Given the description of an element on the screen output the (x, y) to click on. 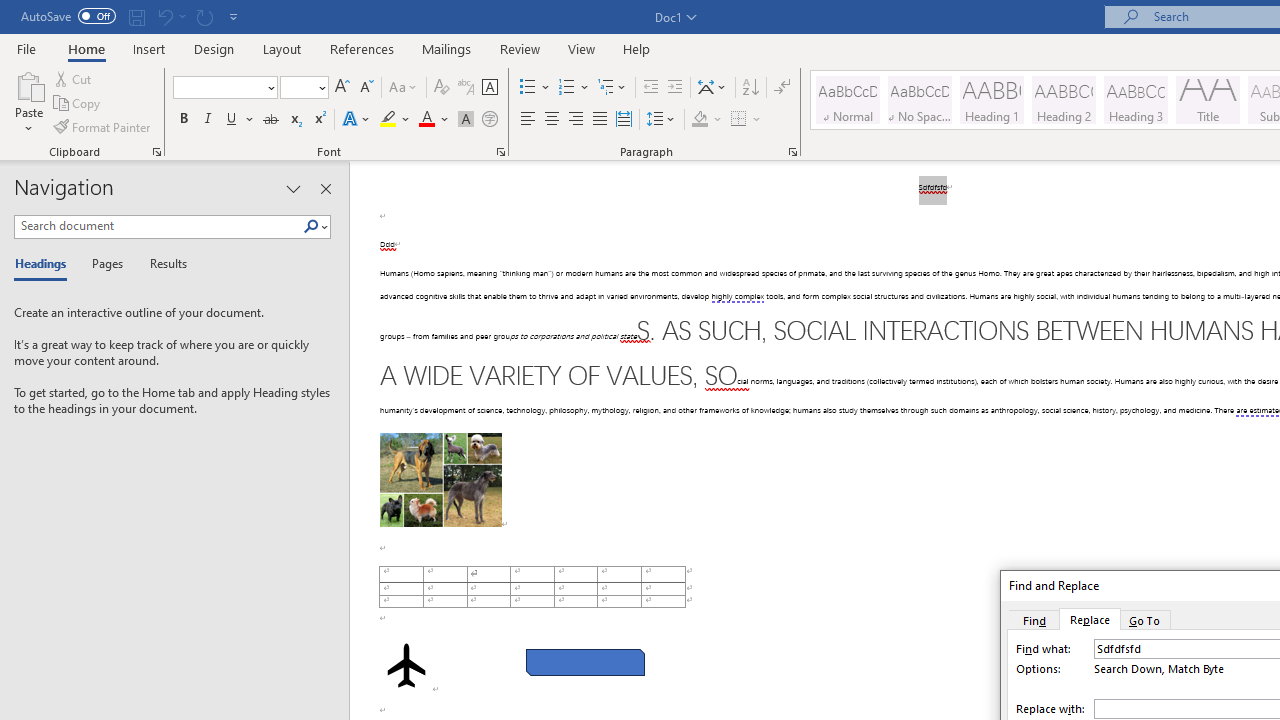
Font Color (434, 119)
Phonetic Guide... (465, 87)
Morphological variation in six dogs (440, 479)
Increase Indent (675, 87)
Format Painter (103, 126)
Distributed (623, 119)
Justify (599, 119)
Text Highlight Color Yellow (388, 119)
